Given the description of an element on the screen output the (x, y) to click on. 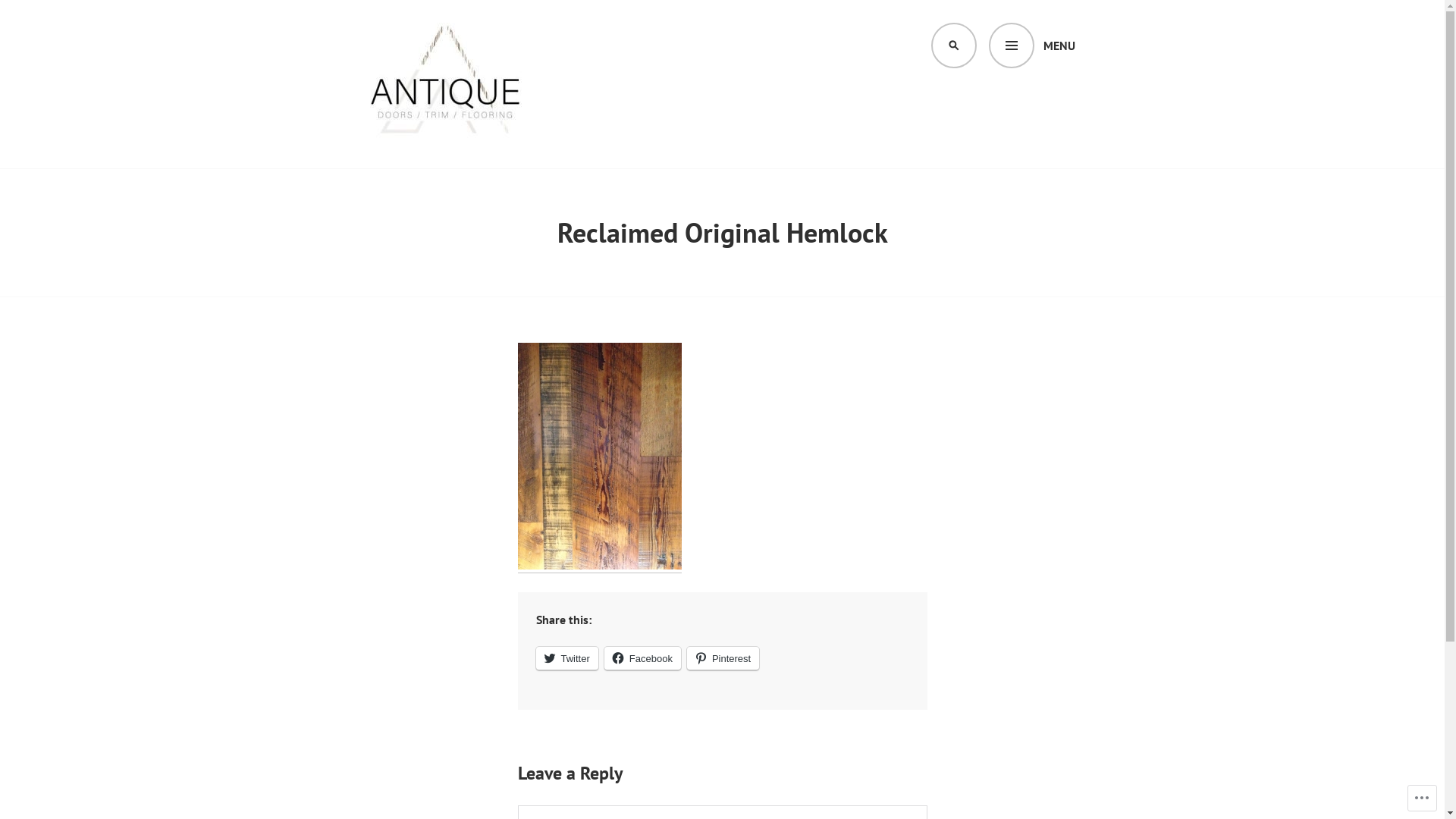
Twitter Element type: text (566, 658)
Pinterest Element type: text (723, 658)
MENU Element type: text (1031, 45)
Facebook Element type: text (642, 658)
